Given the description of an element on the screen output the (x, y) to click on. 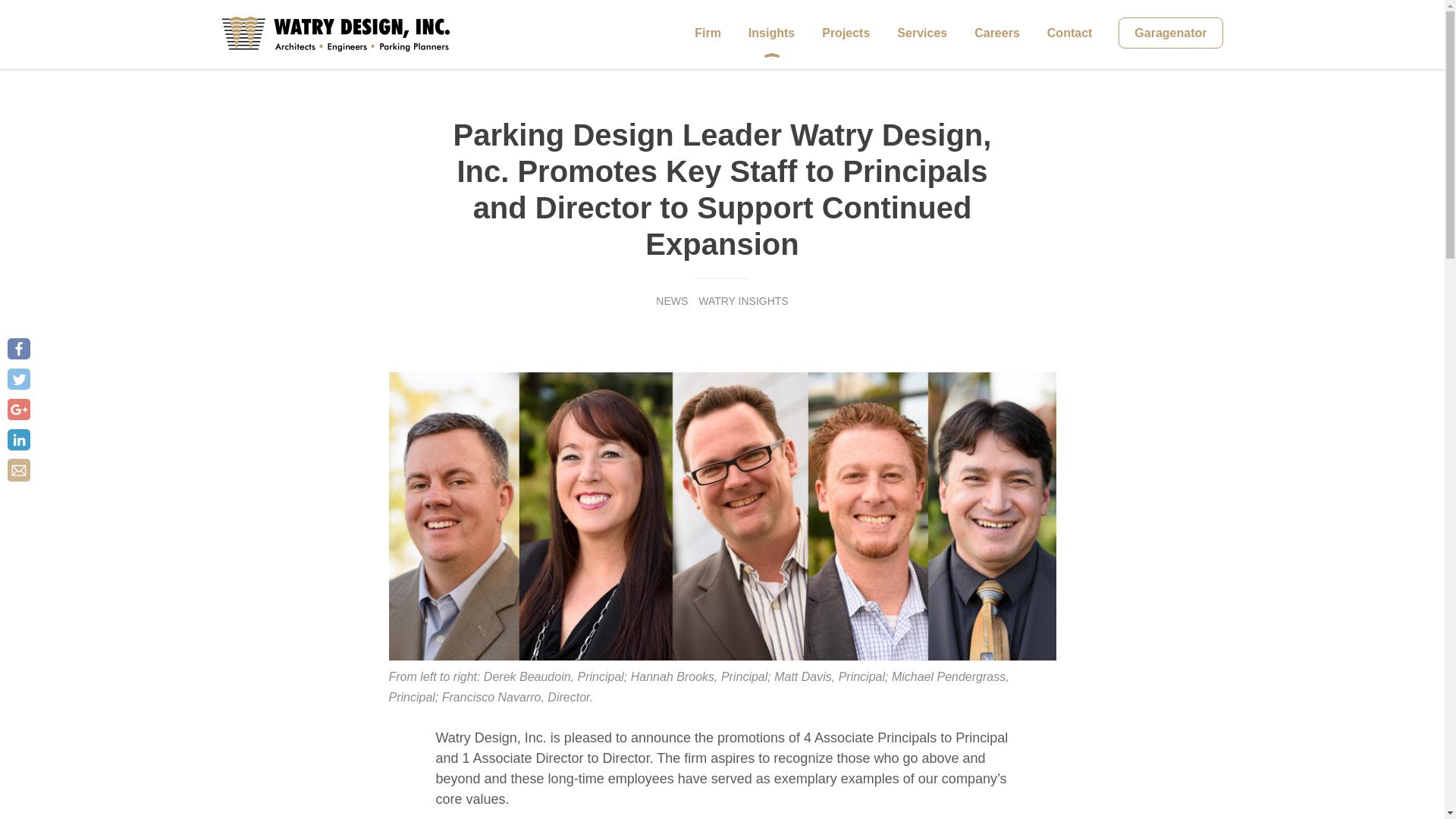
Projects (845, 33)
Contact (1069, 33)
homepage (334, 33)
Services (922, 33)
Firm (708, 33)
Careers (996, 33)
Insights (771, 33)
Garagenator (1170, 32)
